Given the description of an element on the screen output the (x, y) to click on. 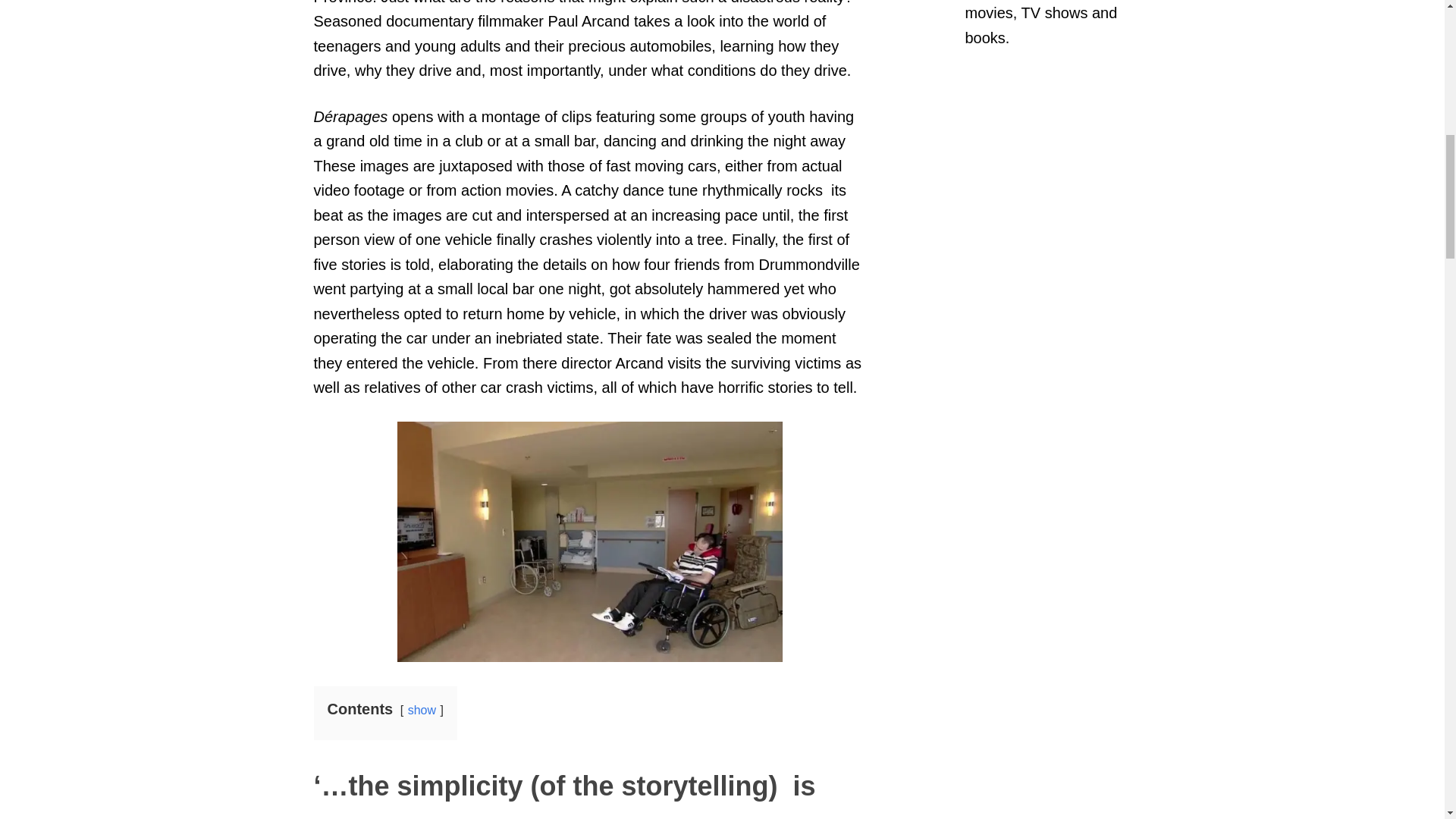
show (421, 709)
